Given the description of an element on the screen output the (x, y) to click on. 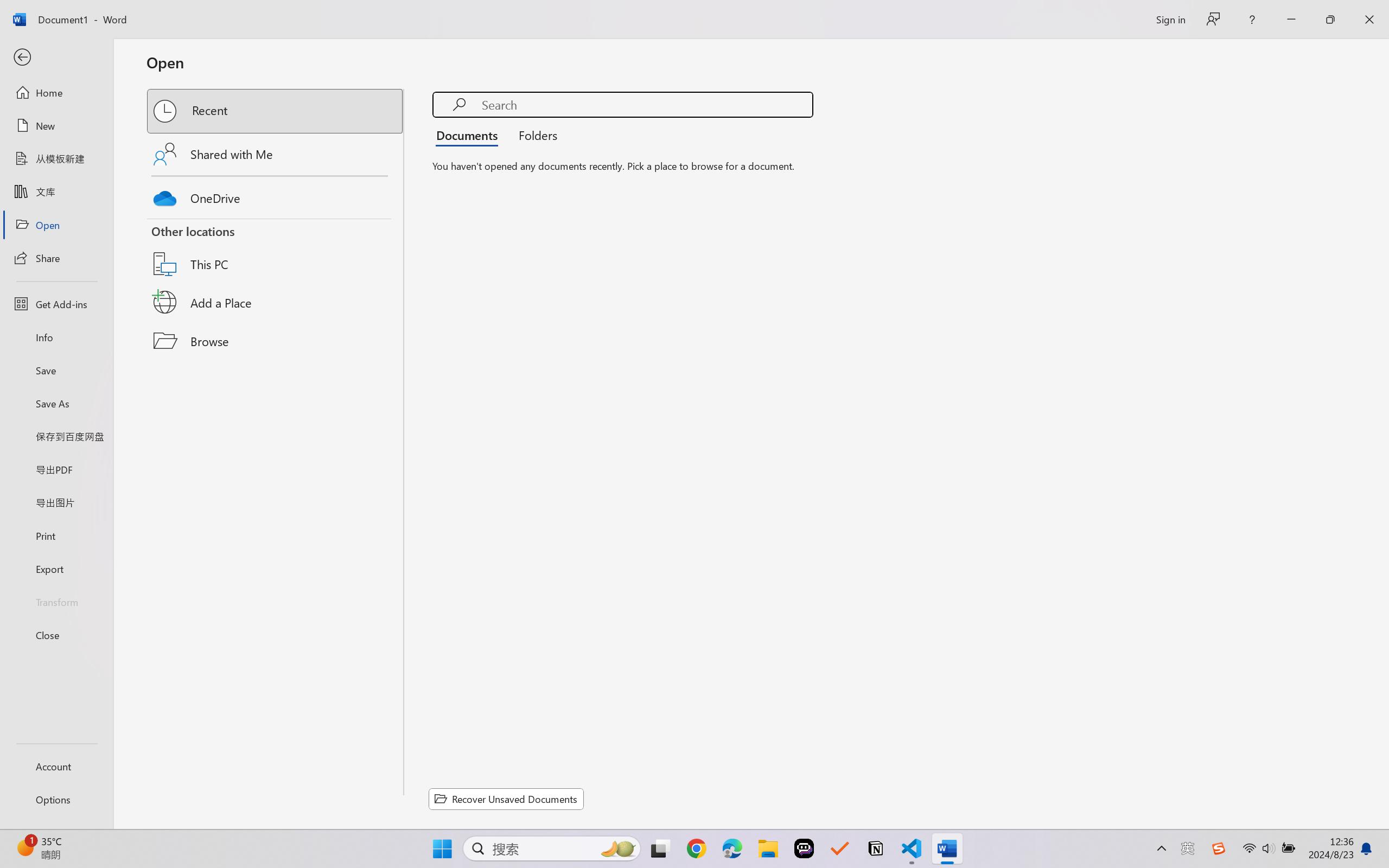
Save As (56, 403)
Folders (534, 134)
Browse (275, 340)
Back (56, 57)
Get Add-ins (56, 303)
Recover Unsaved Documents (506, 798)
This PC (275, 249)
